Given the description of an element on the screen output the (x, y) to click on. 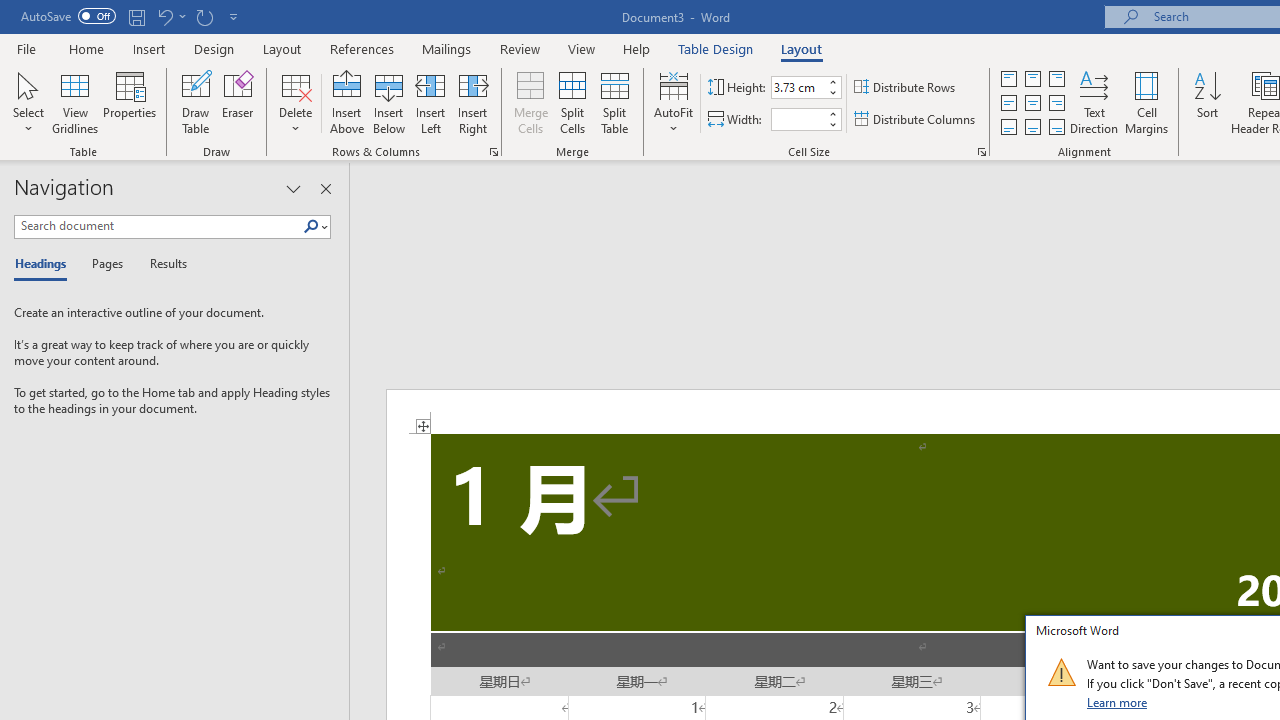
Eraser (237, 102)
Cell Margins... (1146, 102)
Table Column Width (797, 119)
More (832, 113)
Delete (296, 102)
AutoFit (673, 102)
Insert Above (347, 102)
Align Center (1032, 103)
Align Top Right (1056, 78)
